Given the description of an element on the screen output the (x, y) to click on. 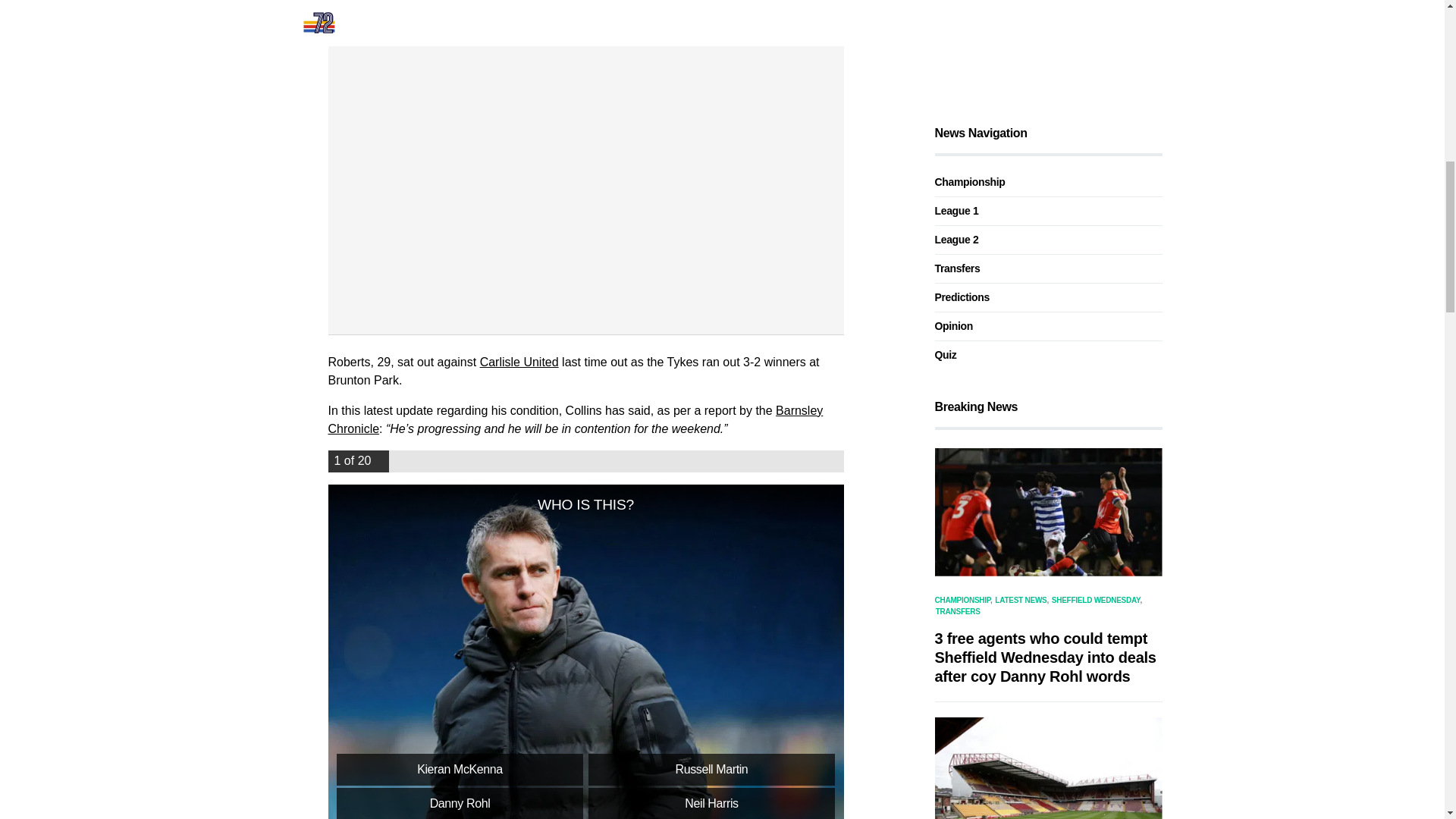
Russell Martin (711, 769)
Neil Harris (711, 803)
Kieran McKenna (459, 769)
Danny Rohl (459, 803)
